Given the description of an element on the screen output the (x, y) to click on. 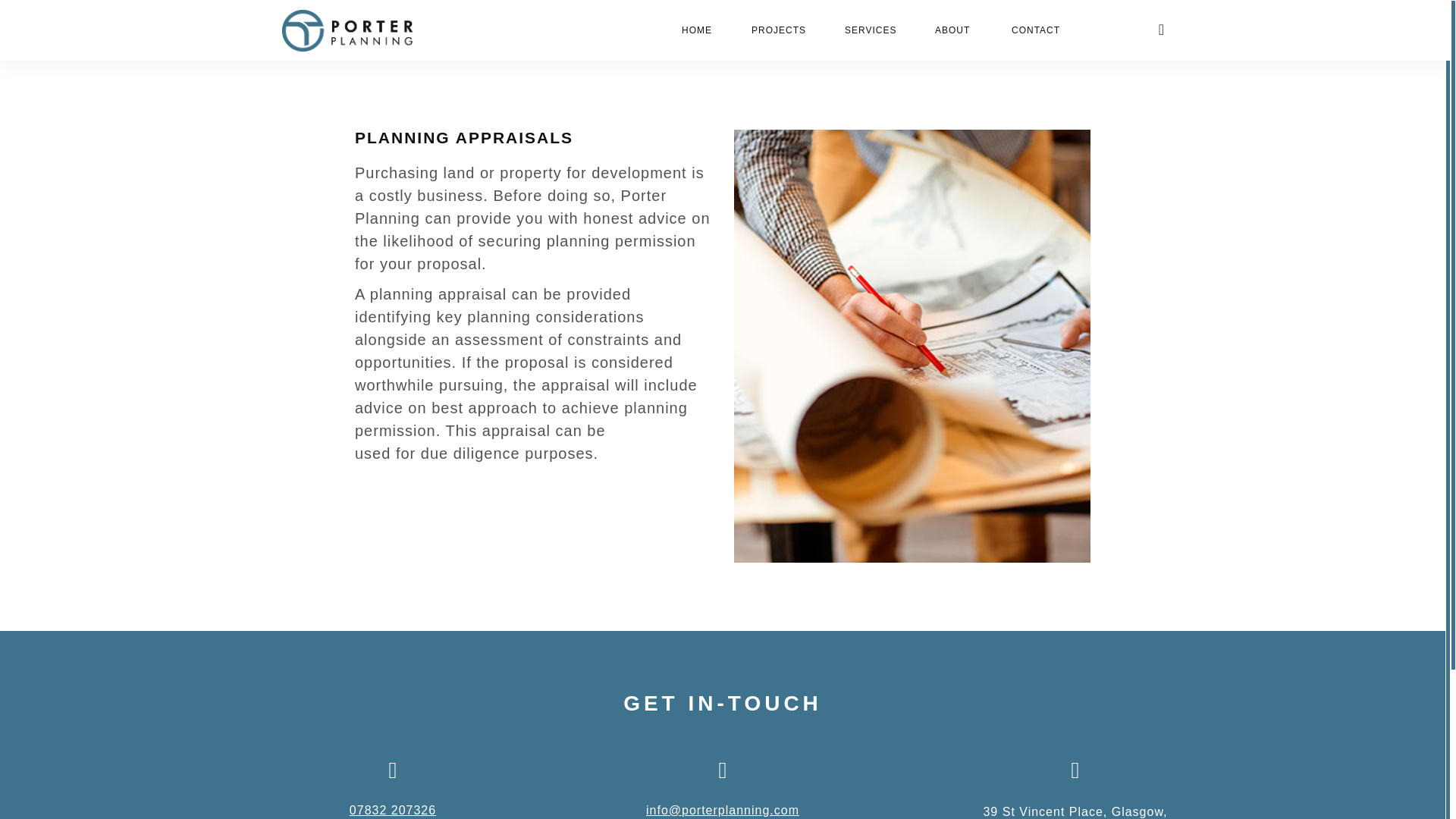
07832 207326 (392, 809)
CONTACT (1035, 30)
HOME (695, 30)
SERVICES (869, 30)
ABOUT (952, 30)
PROJECTS (777, 30)
